Given the description of an element on the screen output the (x, y) to click on. 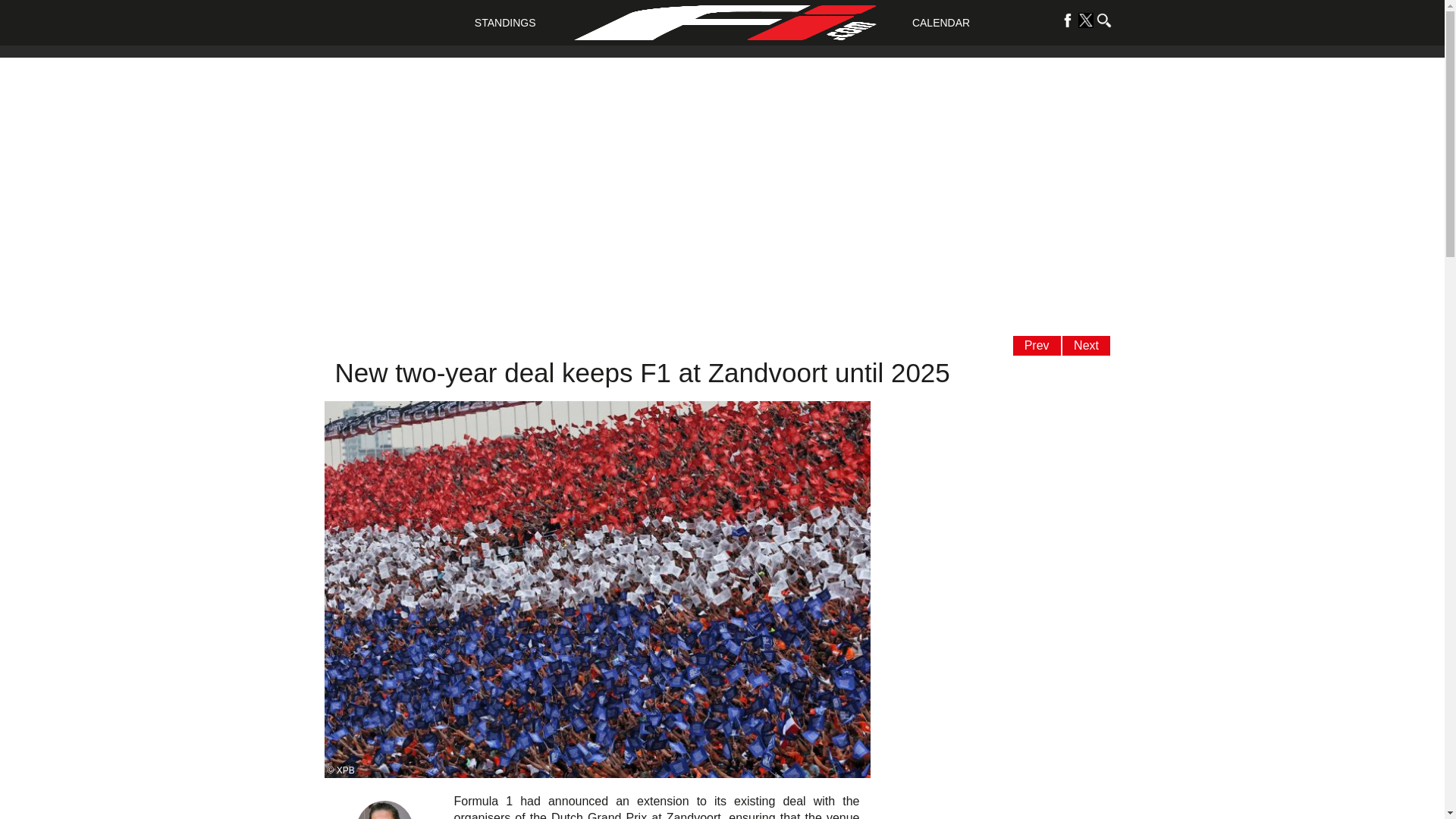
STANDINGS (504, 22)
CALENDAR (940, 22)
